Given the description of an element on the screen output the (x, y) to click on. 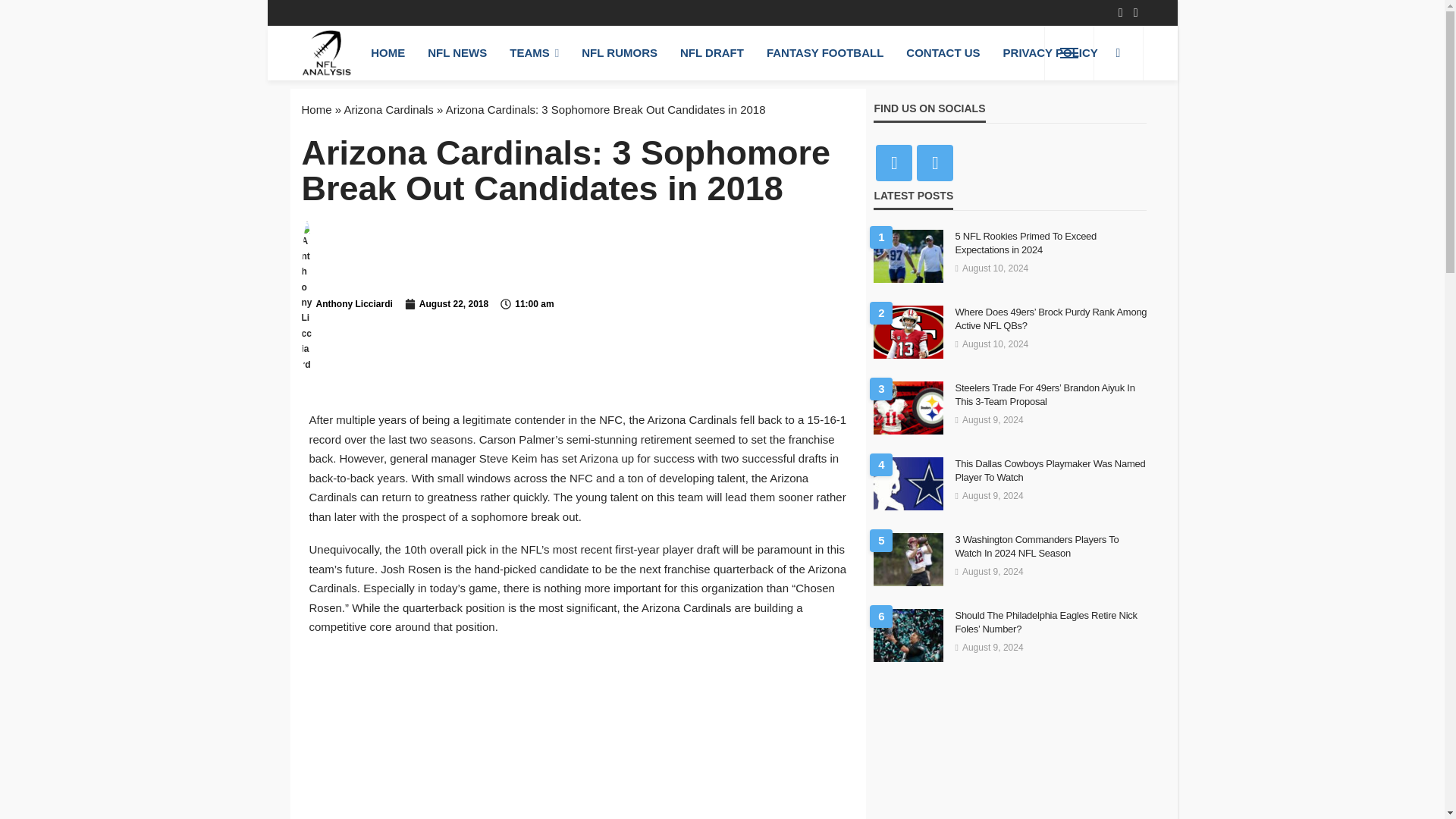
5 NFL Rookies Primed To Exceed Expectations in 2024 (908, 256)
3 Washington Commanders Players To Watch In 2024 NFL Season (1051, 546)
3 Washington Commanders Players To Watch In 2024 NFL Season (908, 559)
This Dallas Cowboys Playmaker Was Named Player To Watch (908, 483)
This Dallas Cowboys Playmaker Was Named Player To Watch (1051, 470)
NFL Analysis Network (326, 52)
5 NFL Rookies Primed To Exceed Expectations in 2024 (1051, 243)
